Given the description of an element on the screen output the (x, y) to click on. 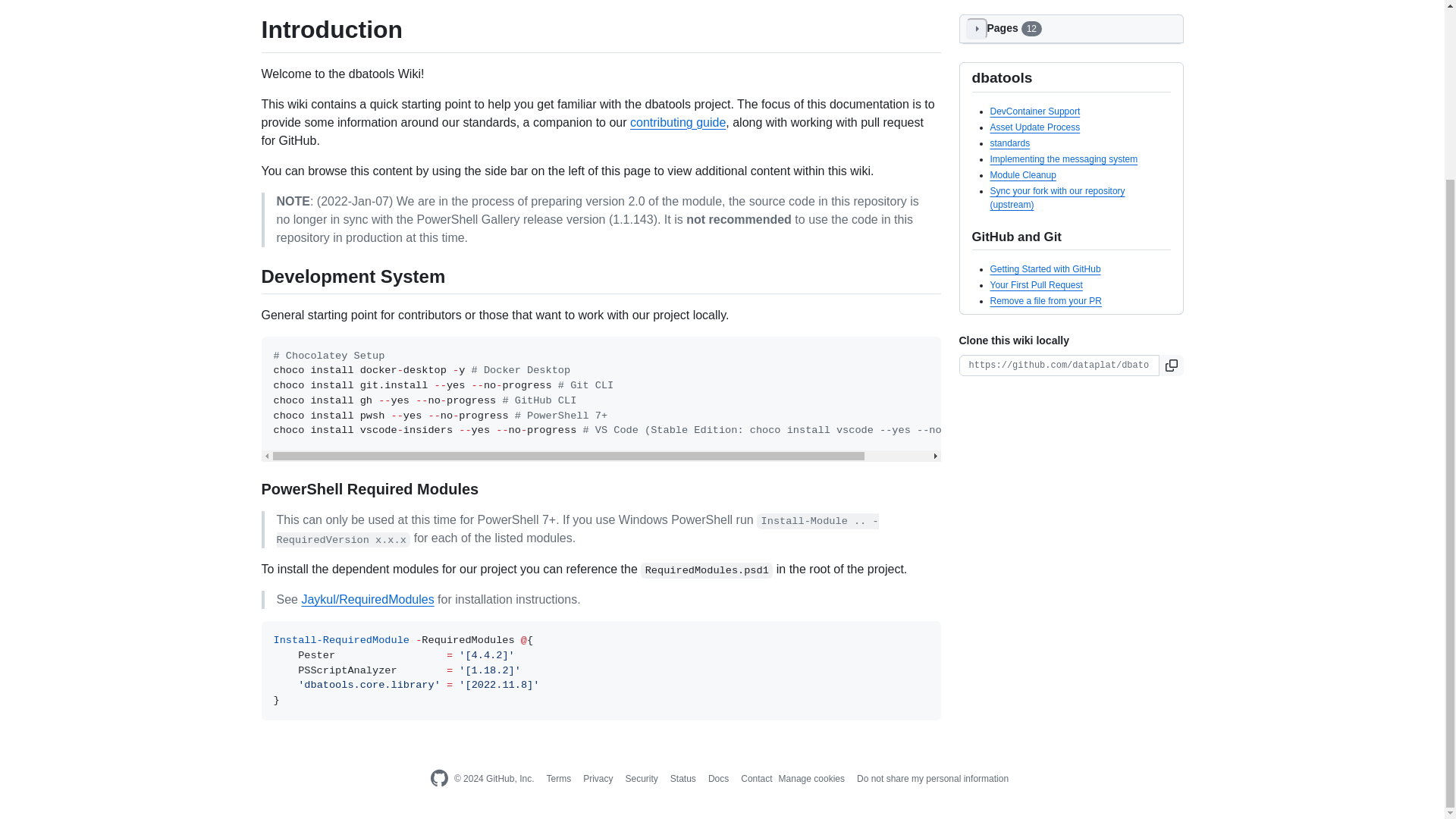
12 (1032, 28)
GitHub (438, 778)
